Given the description of an element on the screen output the (x, y) to click on. 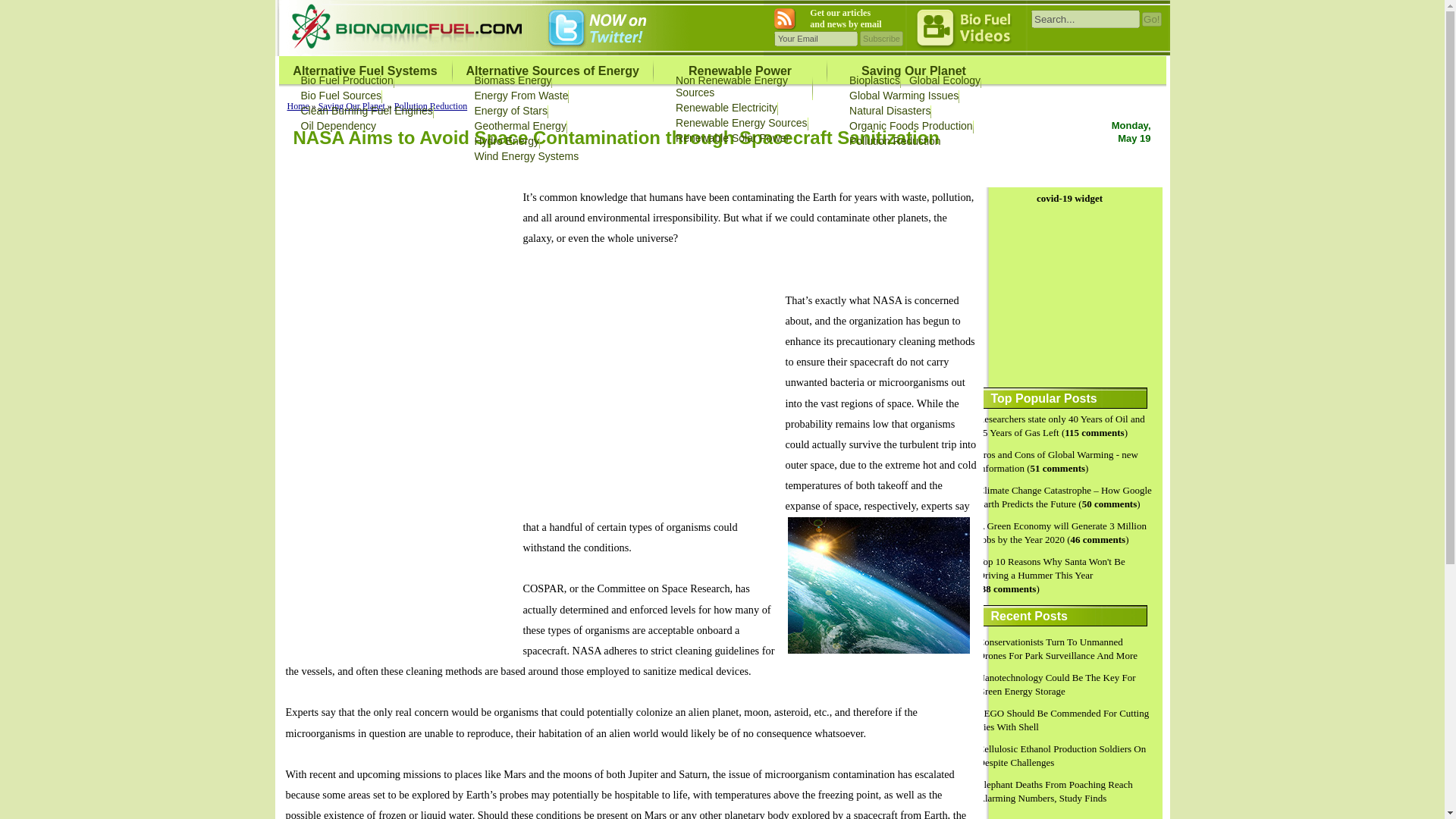
Renewable Power (740, 70)
Hydro Energy (507, 141)
Geothermal Energy (520, 125)
Renewable Energy Sources (741, 122)
Go! (1150, 19)
Search... (1085, 18)
Natural Disasters (889, 110)
Pollution Reduction (430, 105)
Energy From Waste (521, 95)
Advertisement (649, 396)
